Given the description of an element on the screen output the (x, y) to click on. 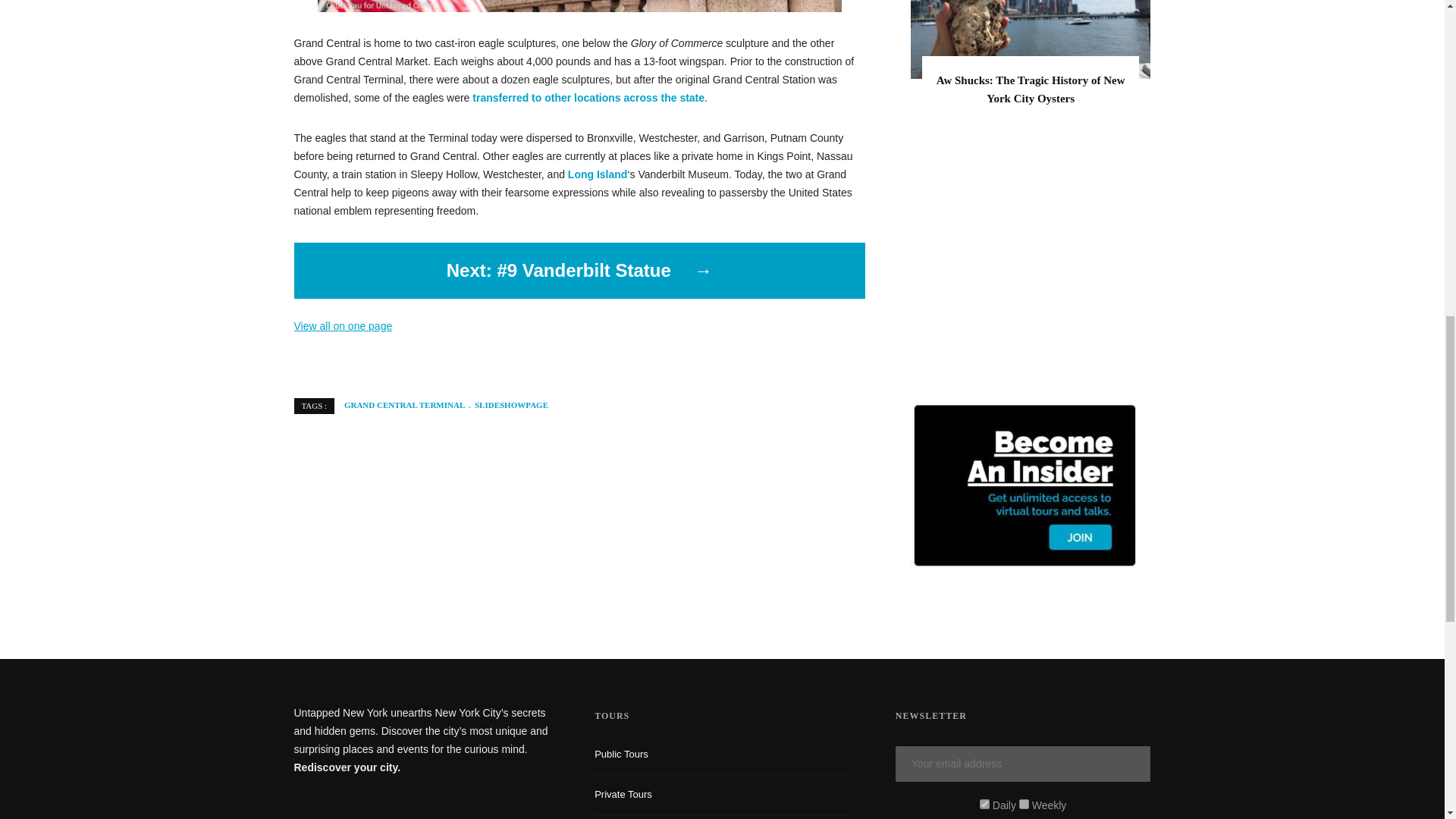
7cff6a70fd (1024, 804)
FareHarbor (1342, 64)
e99a09560c (984, 804)
